Given the description of an element on the screen output the (x, y) to click on. 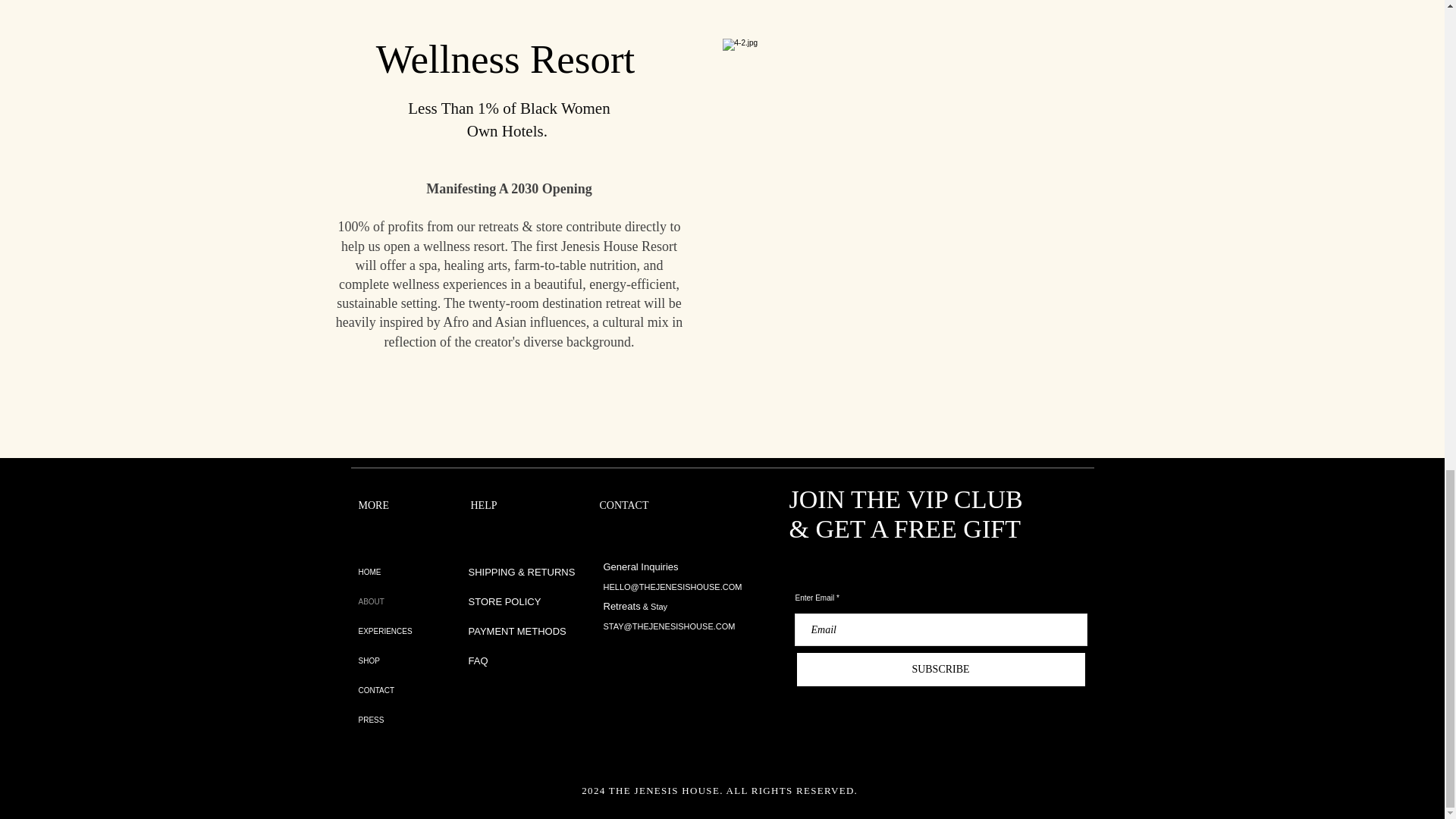
PAYMENT METHODS (517, 631)
HOME (414, 572)
SUBSCRIBE (940, 669)
CONTACT (414, 690)
ABOUT (414, 601)
PRESS (414, 719)
SHOP (414, 660)
STORE POLICY  (505, 601)
EXPERIENCES (414, 631)
FAQ (477, 660)
